Given the description of an element on the screen output the (x, y) to click on. 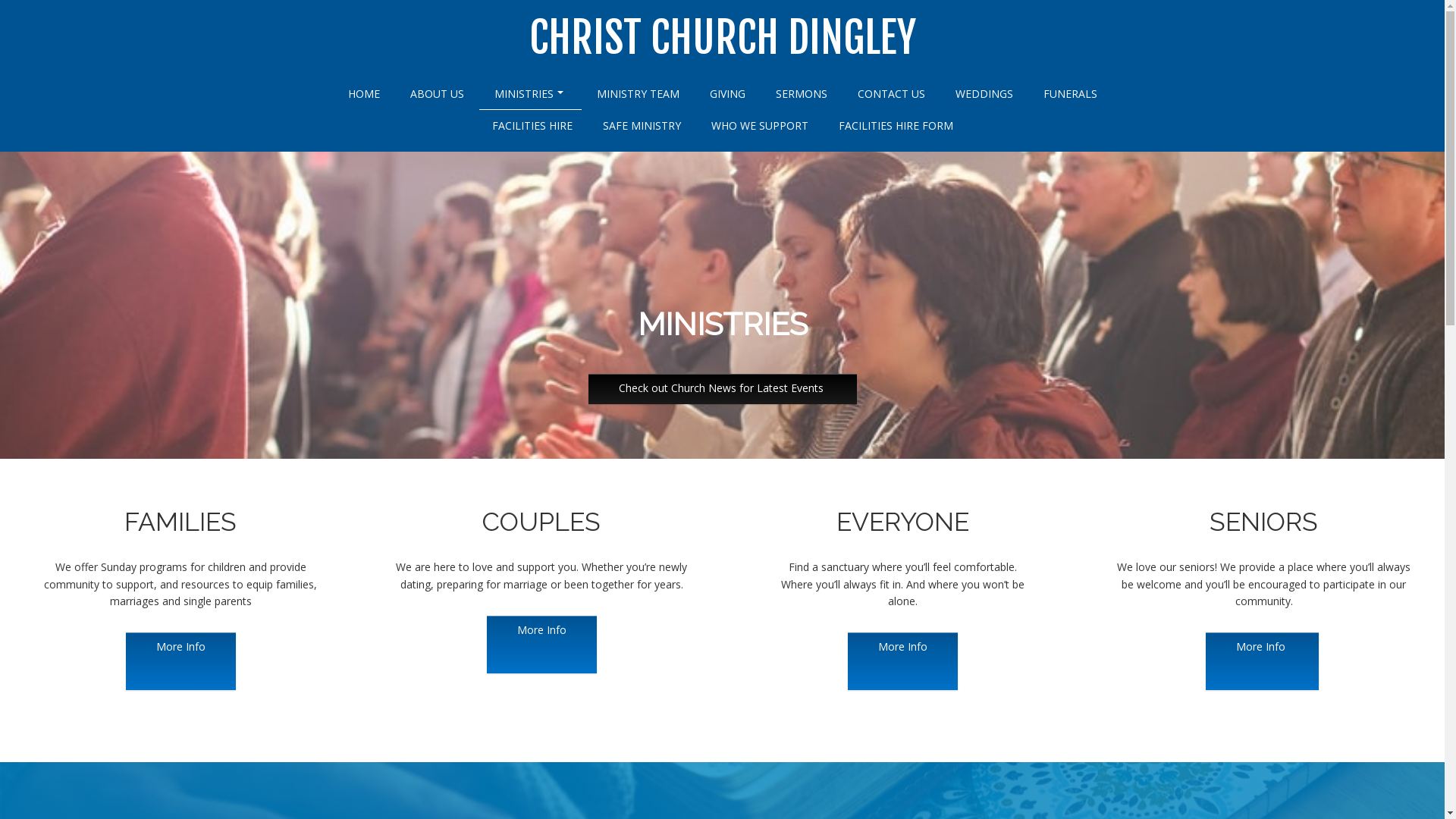
GIVING Element type: text (727, 93)
HOME Element type: text (363, 93)
ABOUT US Element type: text (436, 93)
MINISTRY TEAM Element type: text (636, 93)
MINISTRIES Element type: text (530, 92)
Check out Church News for Latest Events  Element type: text (722, 388)
FUNERALS Element type: text (1070, 93)
WHO WE SUPPORT Element type: text (759, 125)
More Info Element type: text (541, 644)
CHRIST CHURCH DINGLEY Element type: text (722, 38)
More Info  Element type: text (1261, 661)
FACILITIES HIRE FORM Element type: text (895, 125)
More Info Element type: text (180, 661)
SAFE MINISTRY Element type: text (640, 125)
SERMONS Element type: text (800, 93)
More Info Element type: text (902, 661)
FACILITIES HIRE Element type: text (531, 125)
CONTACT US Element type: text (890, 93)
WEDDINGS Element type: text (984, 93)
